Given the description of an element on the screen output the (x, y) to click on. 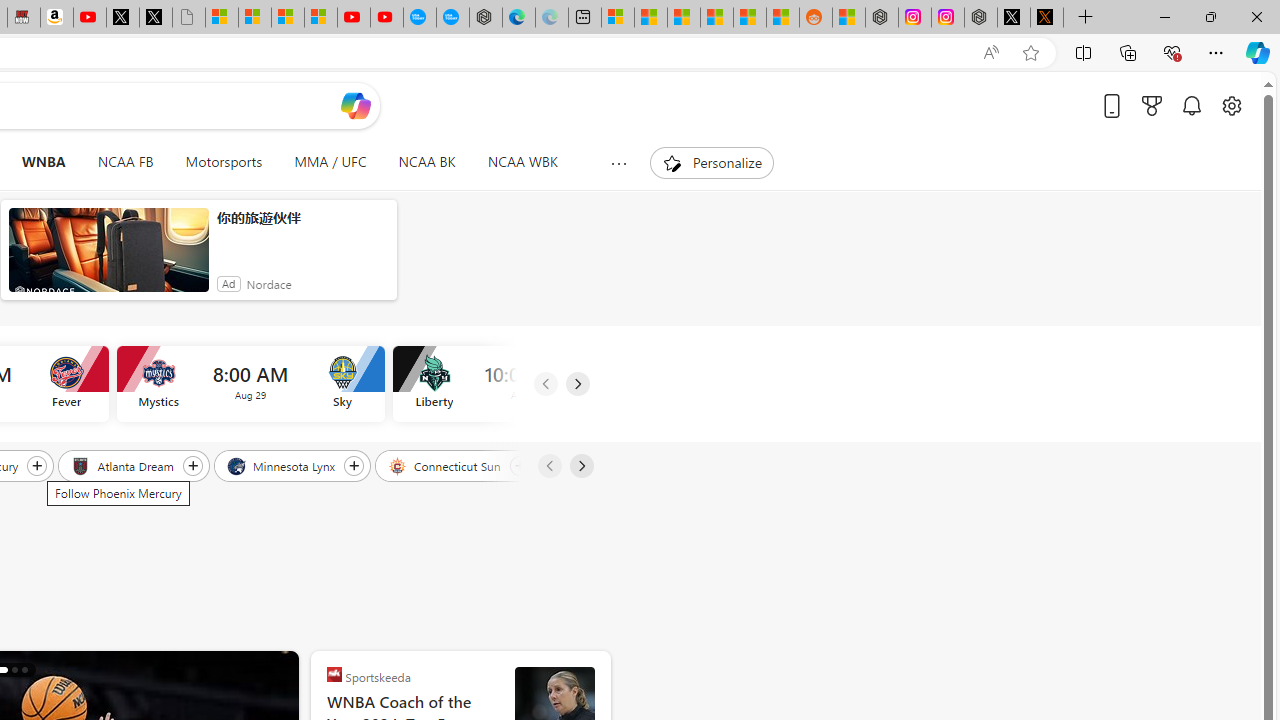
help.x.com | 524: A timeout occurred (1046, 17)
Open settings (1231, 105)
NCAA WBK (522, 162)
Next (580, 465)
Microsoft rewards (1151, 105)
Atlanta Dream (123, 465)
WNBA (43, 162)
Follow Connecticut Sun (519, 465)
